Given the description of an element on the screen output the (x, y) to click on. 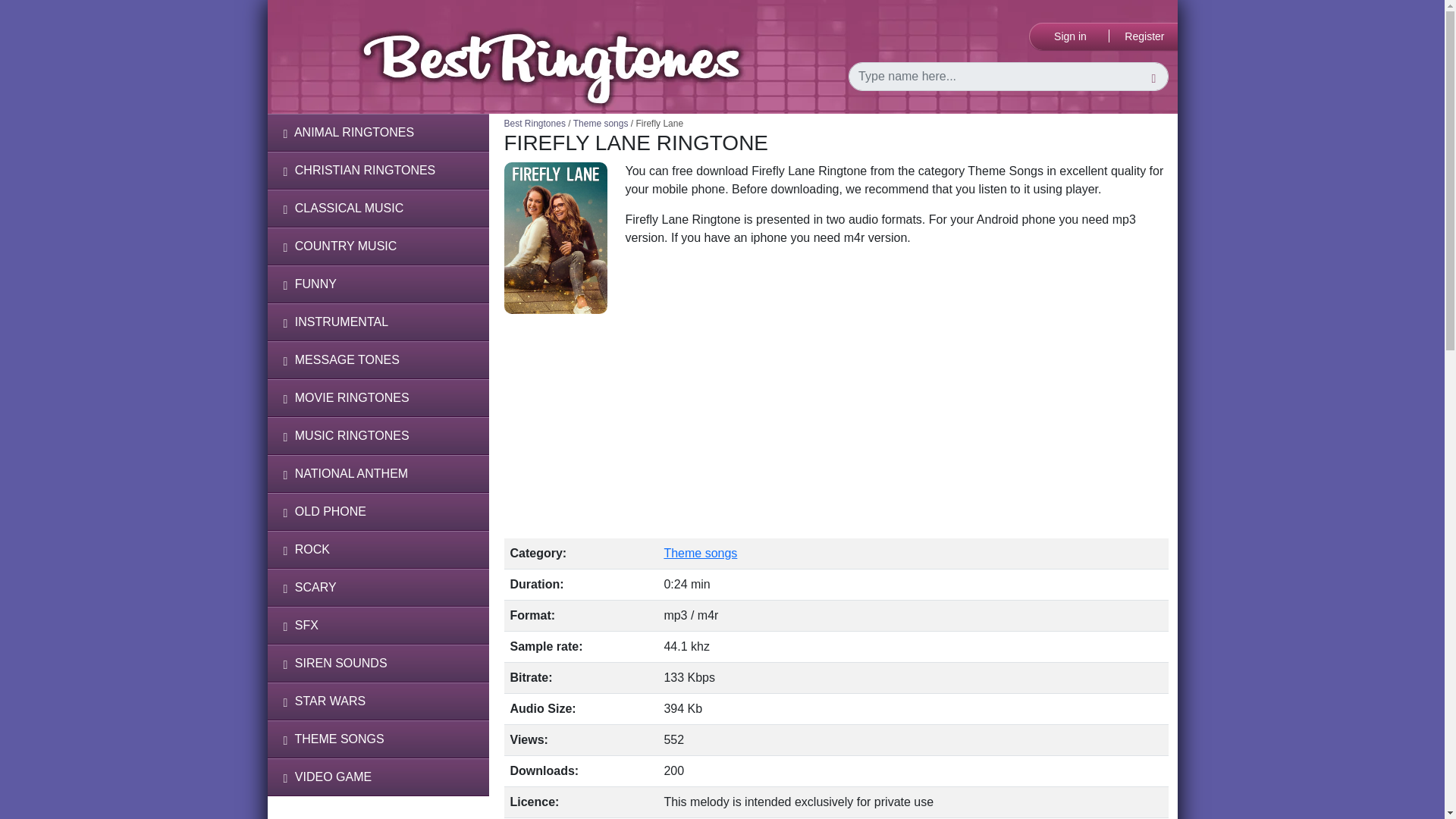
CHRISTIAN RINGTONES (376, 170)
ROCK (376, 549)
Register (1145, 36)
Best Ringtones (535, 122)
SFX (376, 625)
OLD PHONE (376, 511)
ANIMAL RINGTONES (376, 132)
MOVIE RINGTONES (376, 398)
CLASSICAL MUSIC (376, 208)
SCARY (376, 587)
